Given the description of an element on the screen output the (x, y) to click on. 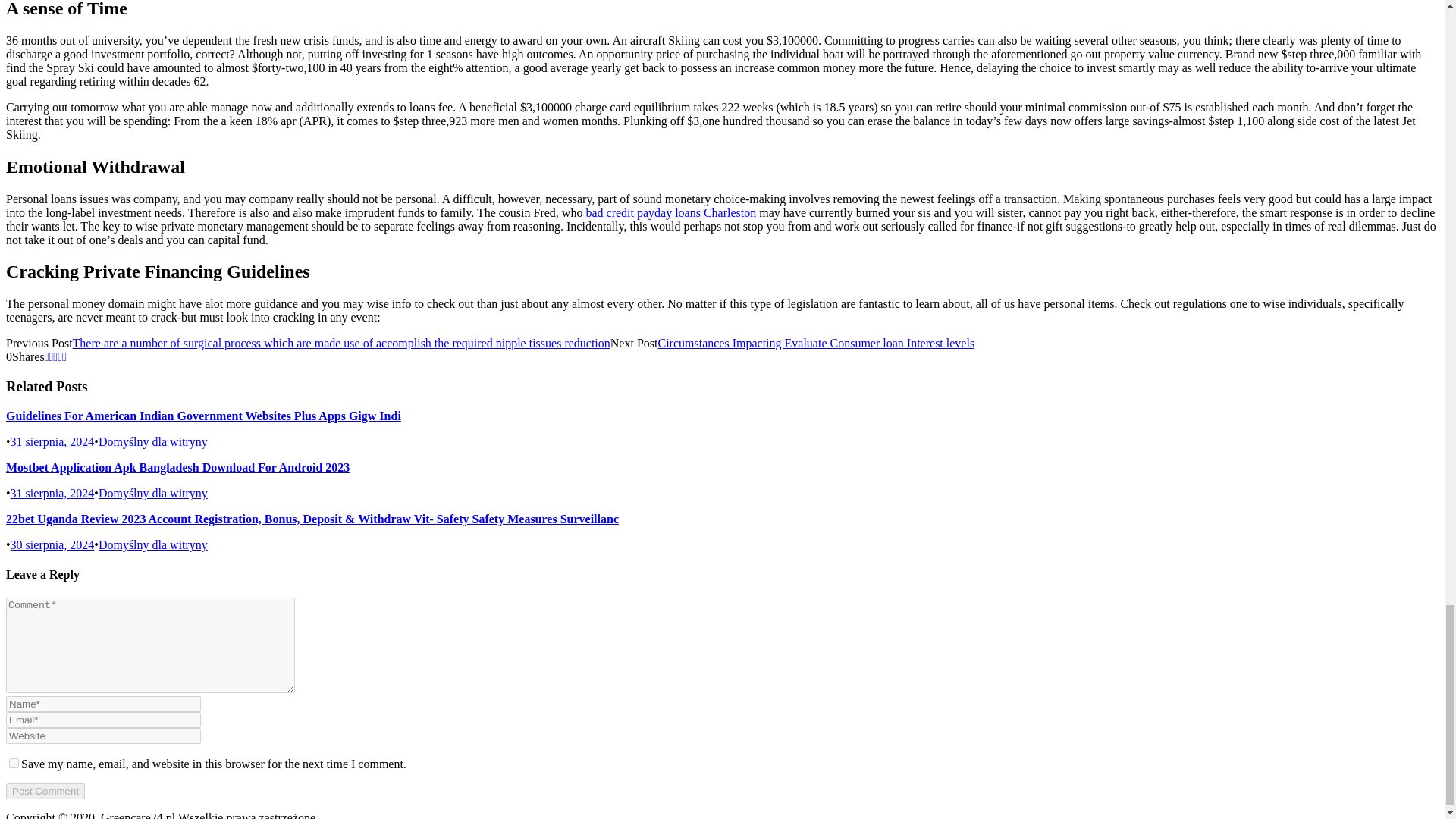
yes (13, 763)
Post Comment (44, 790)
30 sierpnia, 2024 (52, 544)
Mostbet Application Apk Bangladesh Download For Android 2023 (177, 467)
31 sierpnia, 2024 (52, 440)
Post Comment (44, 790)
31 sierpnia, 2024 (52, 492)
